Given the description of an element on the screen output the (x, y) to click on. 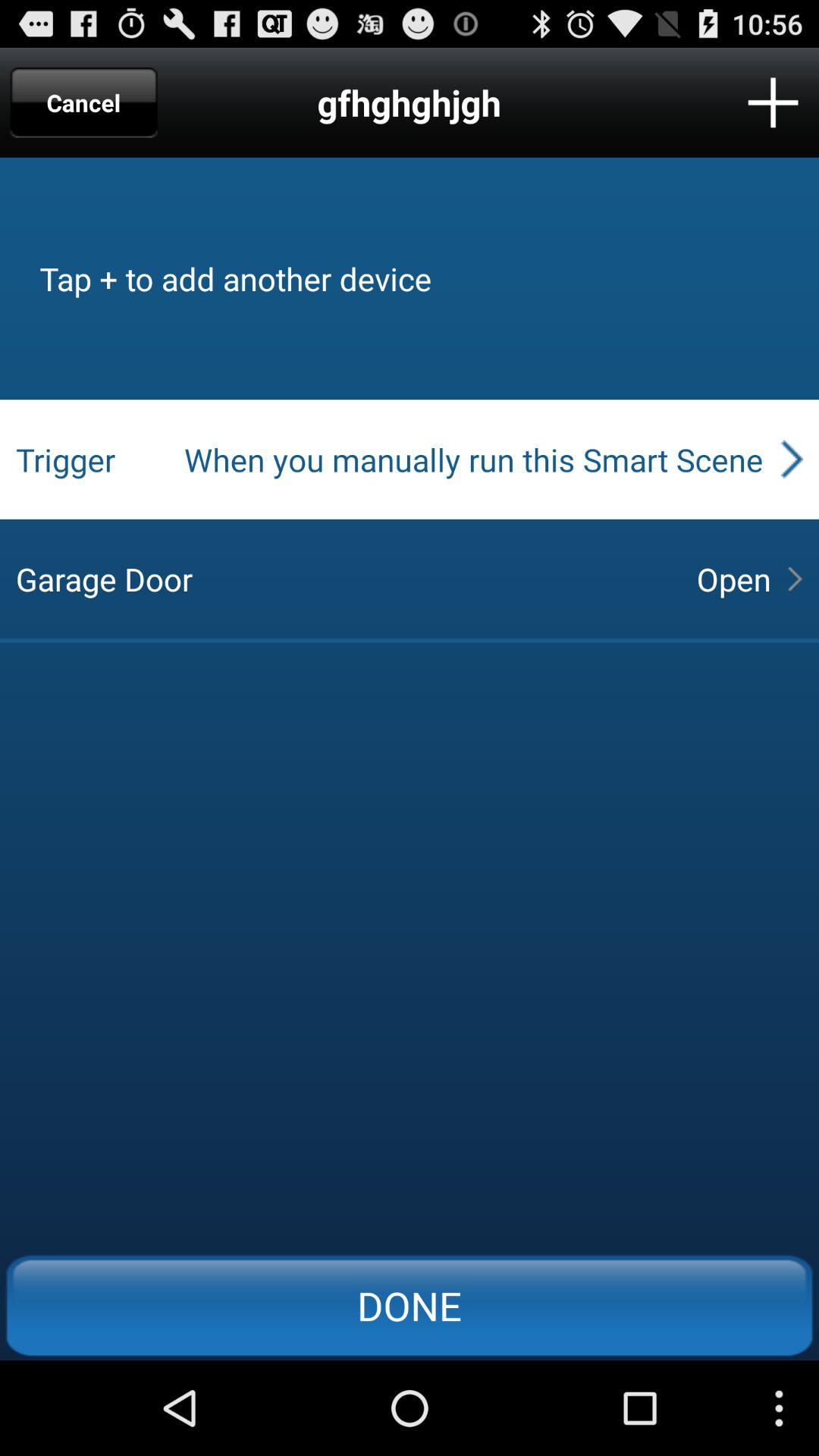
press item to the left of the gfhghghjgh app (83, 102)
